Given the description of an element on the screen output the (x, y) to click on. 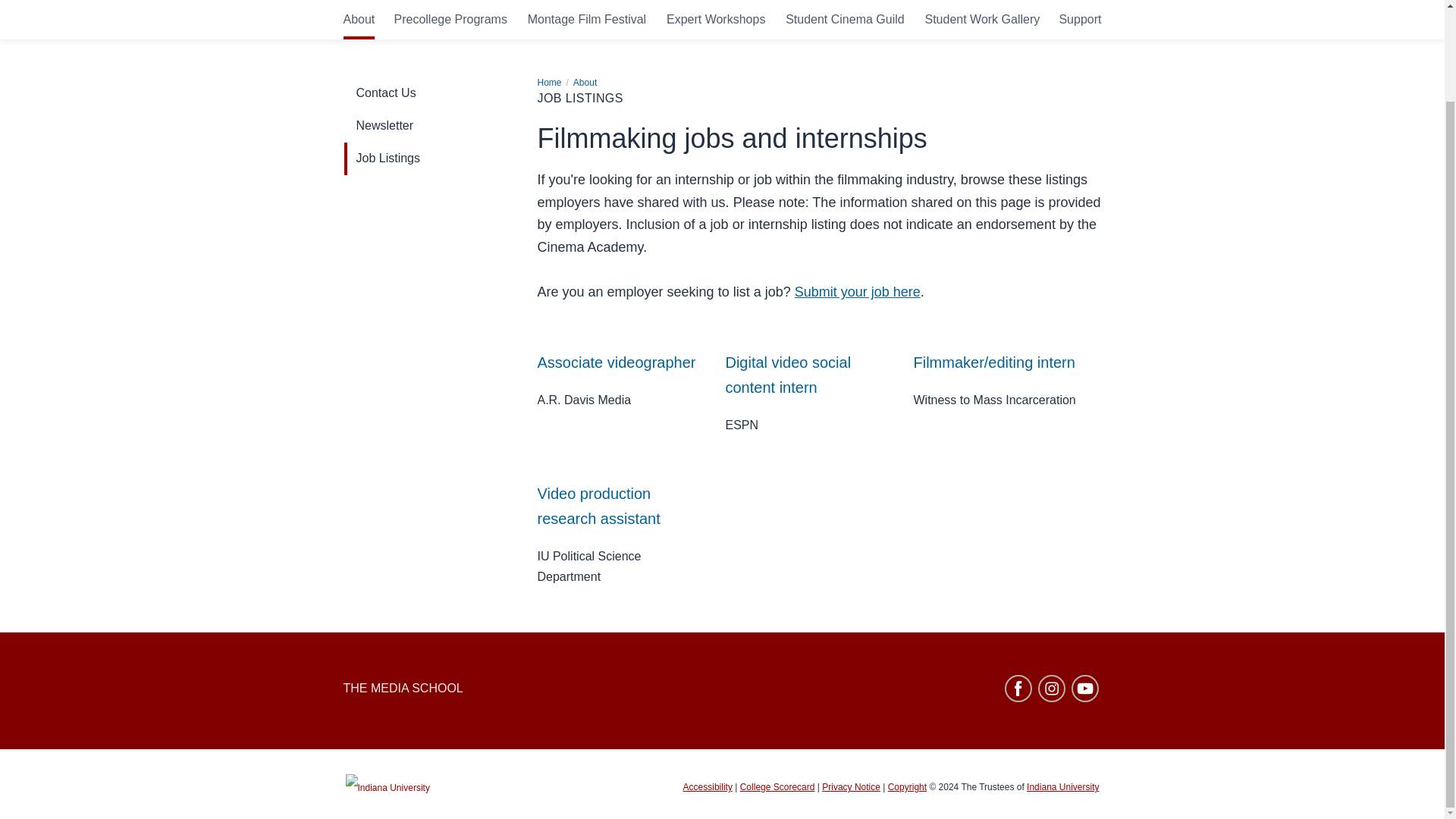
Submit your job here (857, 4)
